Given the description of an element on the screen output the (x, y) to click on. 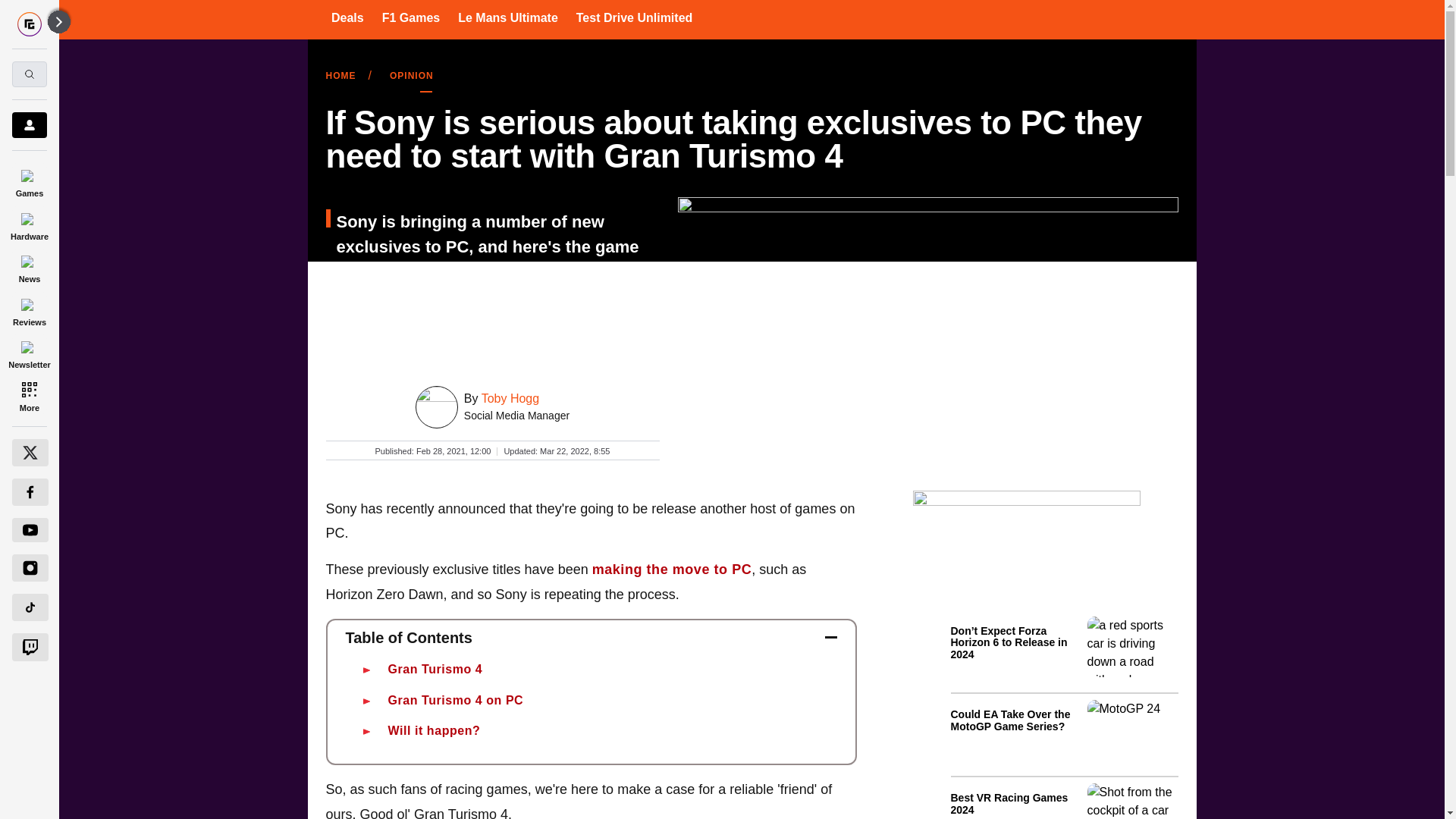
Deals (347, 18)
Latest News (1063, 714)
Le Mans Ultimate (507, 18)
Reviews (28, 309)
Newsletter (28, 352)
Hardware (28, 224)
Test Drive Unlimited (634, 18)
News (28, 266)
Games (28, 180)
F1 Games (410, 18)
More (28, 395)
